Given the description of an element on the screen output the (x, y) to click on. 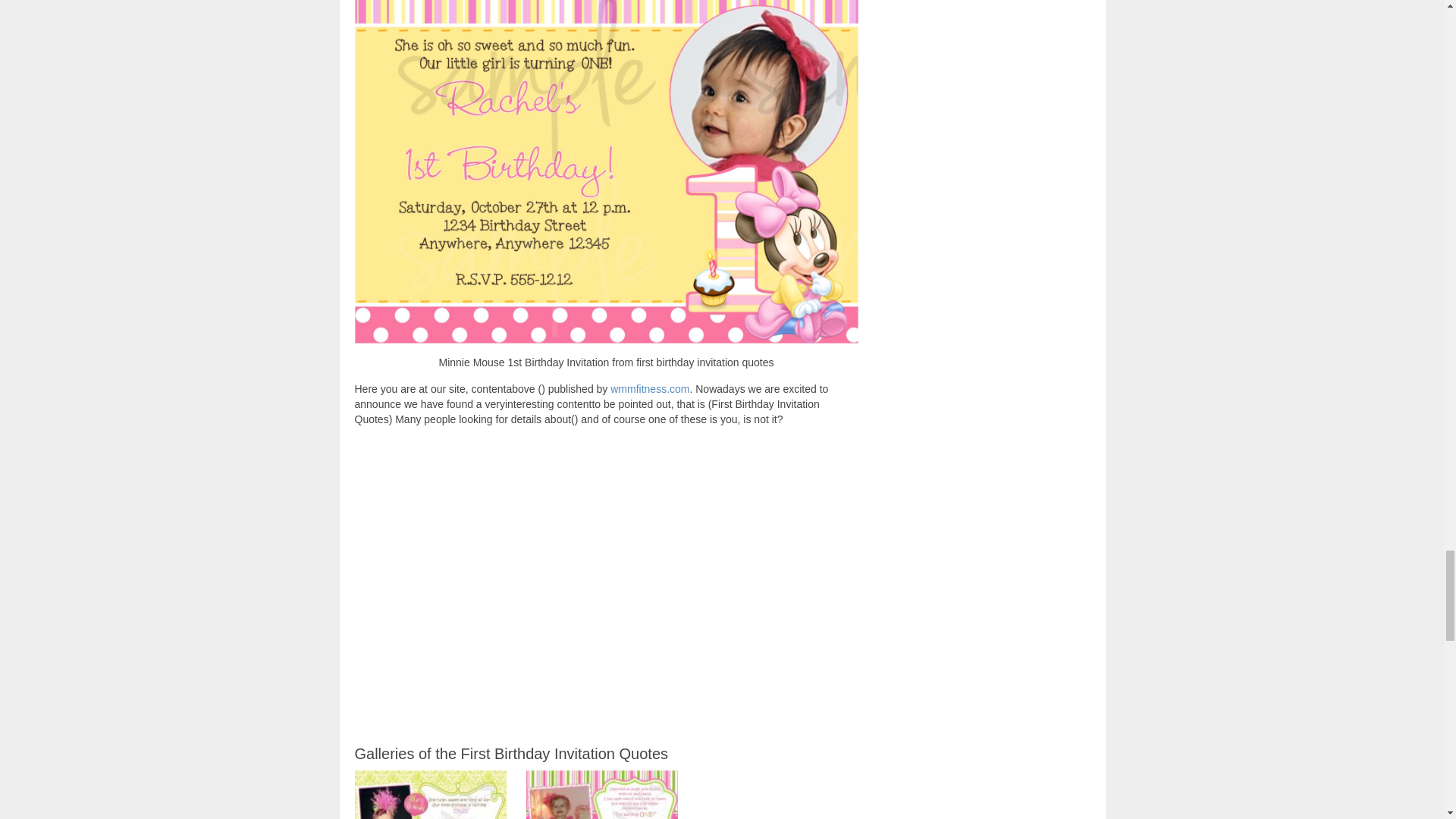
wmmfitness.com (649, 388)
